Given the description of an element on the screen output the (x, y) to click on. 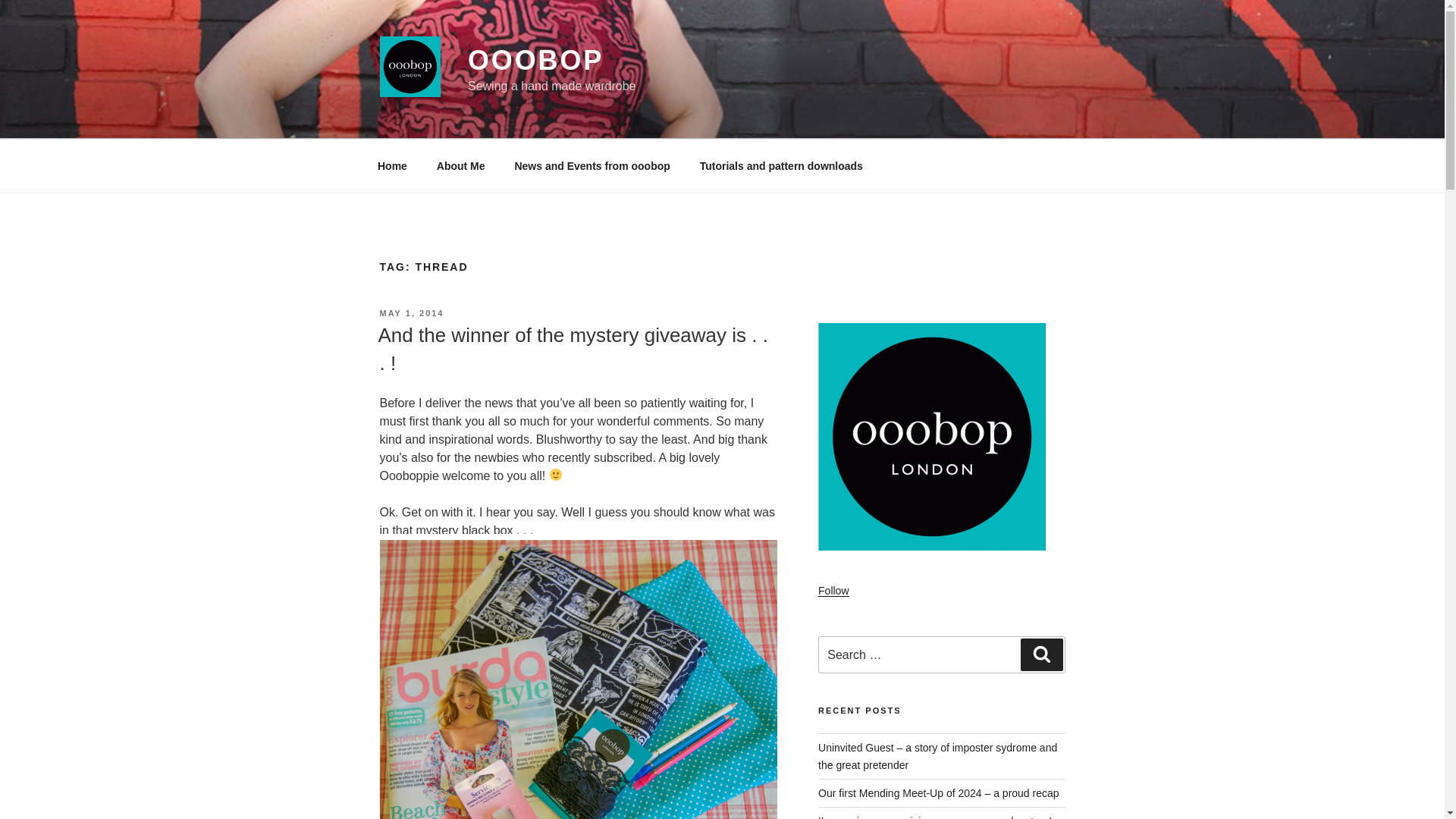
OOOBOP (535, 60)
And the winner of the mystery giveaway is . . . ! (572, 348)
News and Events from ooobop (591, 165)
Follow (833, 590)
MAY 1, 2014 (411, 312)
Tutorials and pattern downloads (780, 165)
Search (1041, 654)
About Me (460, 165)
Tutorials and pattern downloads (780, 165)
Home (392, 165)
Home (392, 165)
